Given the description of an element on the screen output the (x, y) to click on. 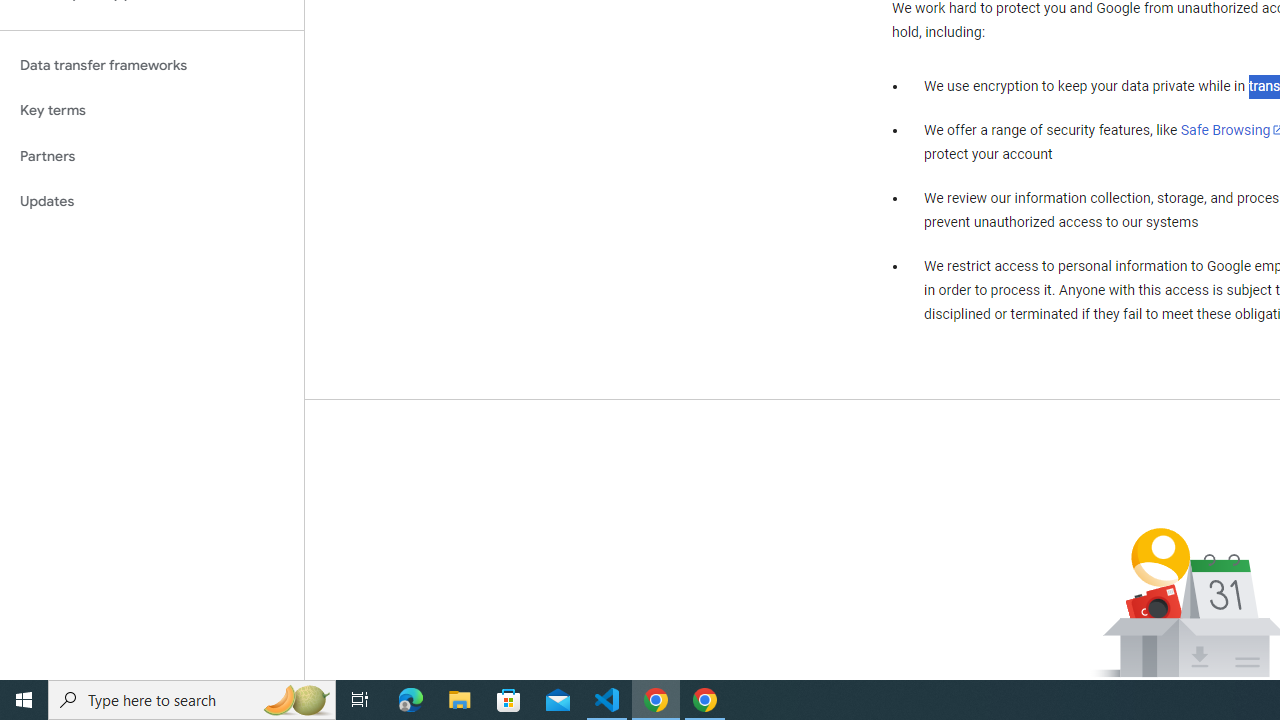
Partners (152, 156)
Updates (152, 201)
Key terms (152, 110)
Data transfer frameworks (152, 65)
